Given the description of an element on the screen output the (x, y) to click on. 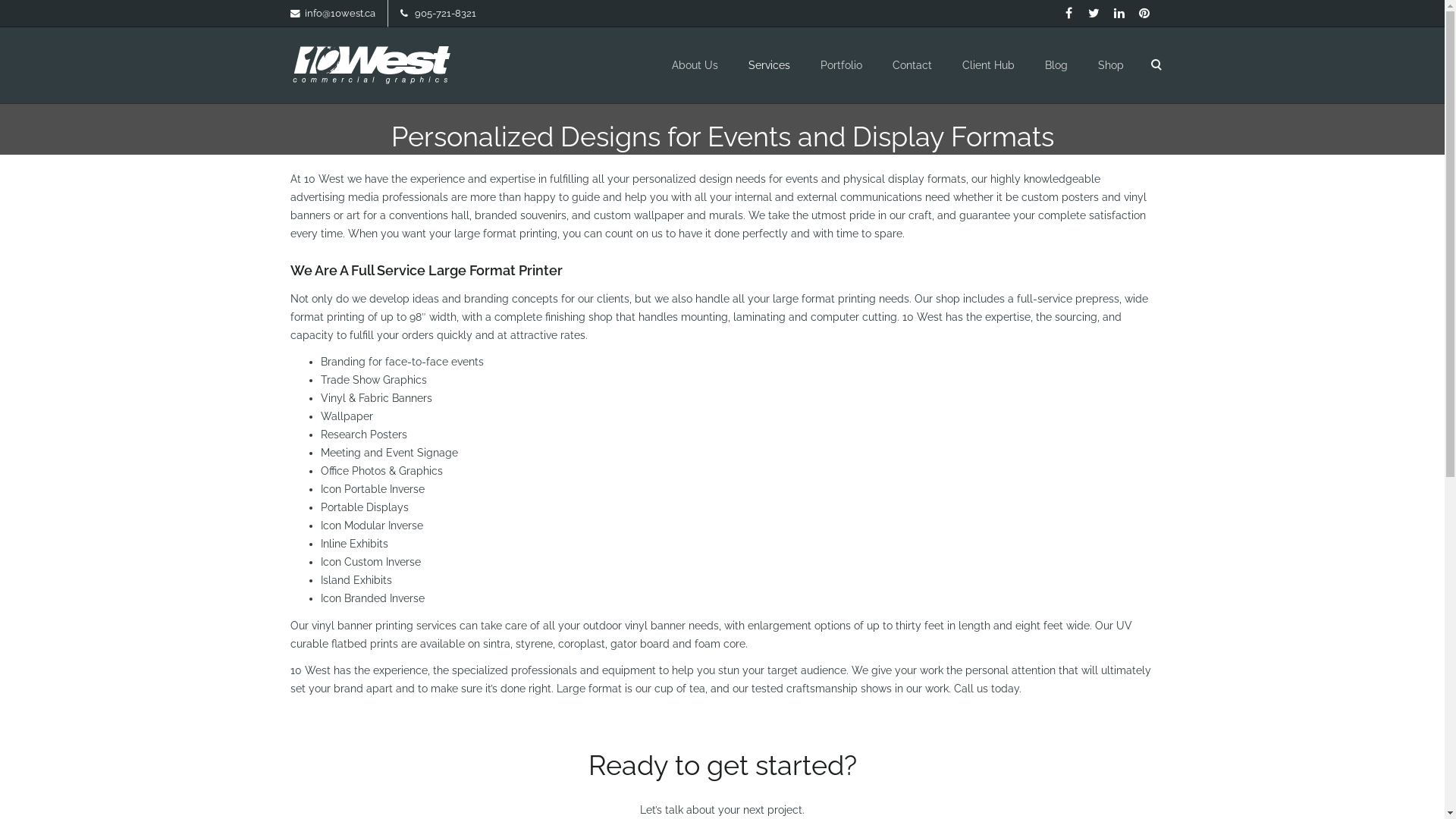
About Us Element type: text (694, 65)
Shop Element type: text (1110, 65)
Client Hub Element type: text (987, 65)
Services Element type: text (768, 65)
info@10west.ca Element type: text (339, 12)
Portfolio Element type: text (841, 65)
Contact Element type: text (911, 65)
Blog Element type: text (1055, 65)
905-721-8321 Element type: text (444, 12)
